Given the description of an element on the screen output the (x, y) to click on. 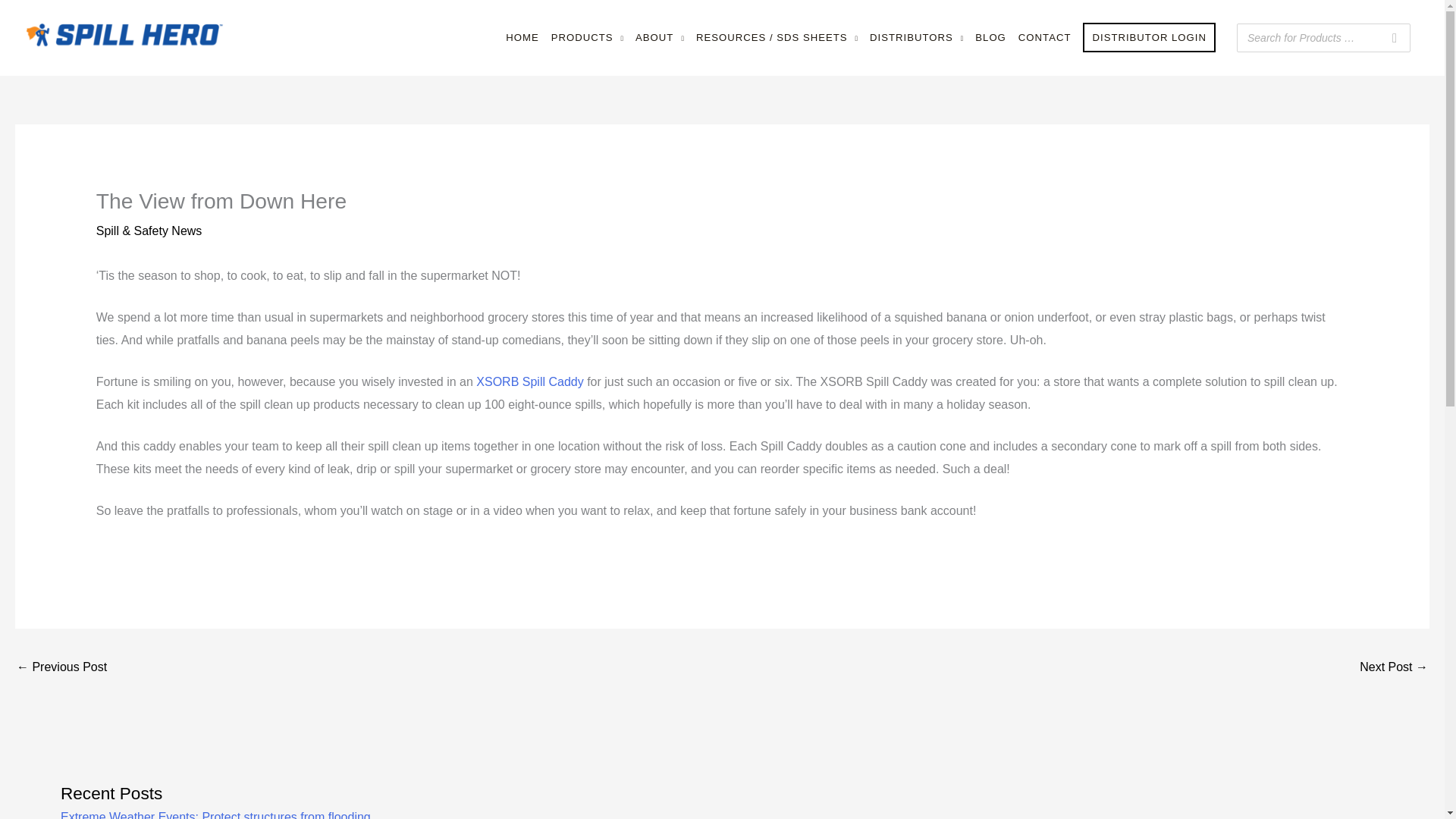
Something Fishy Going On? (61, 668)
DISTRIBUTOR LOGIN (1149, 37)
Solid, Dude! (1393, 668)
BLOG (990, 37)
ABOUT (659, 37)
PRODUCTS (586, 37)
CONTACT (1044, 37)
XSORB Spill Caddy (529, 381)
HOME (521, 37)
DISTRIBUTORS (916, 37)
